Given the description of an element on the screen output the (x, y) to click on. 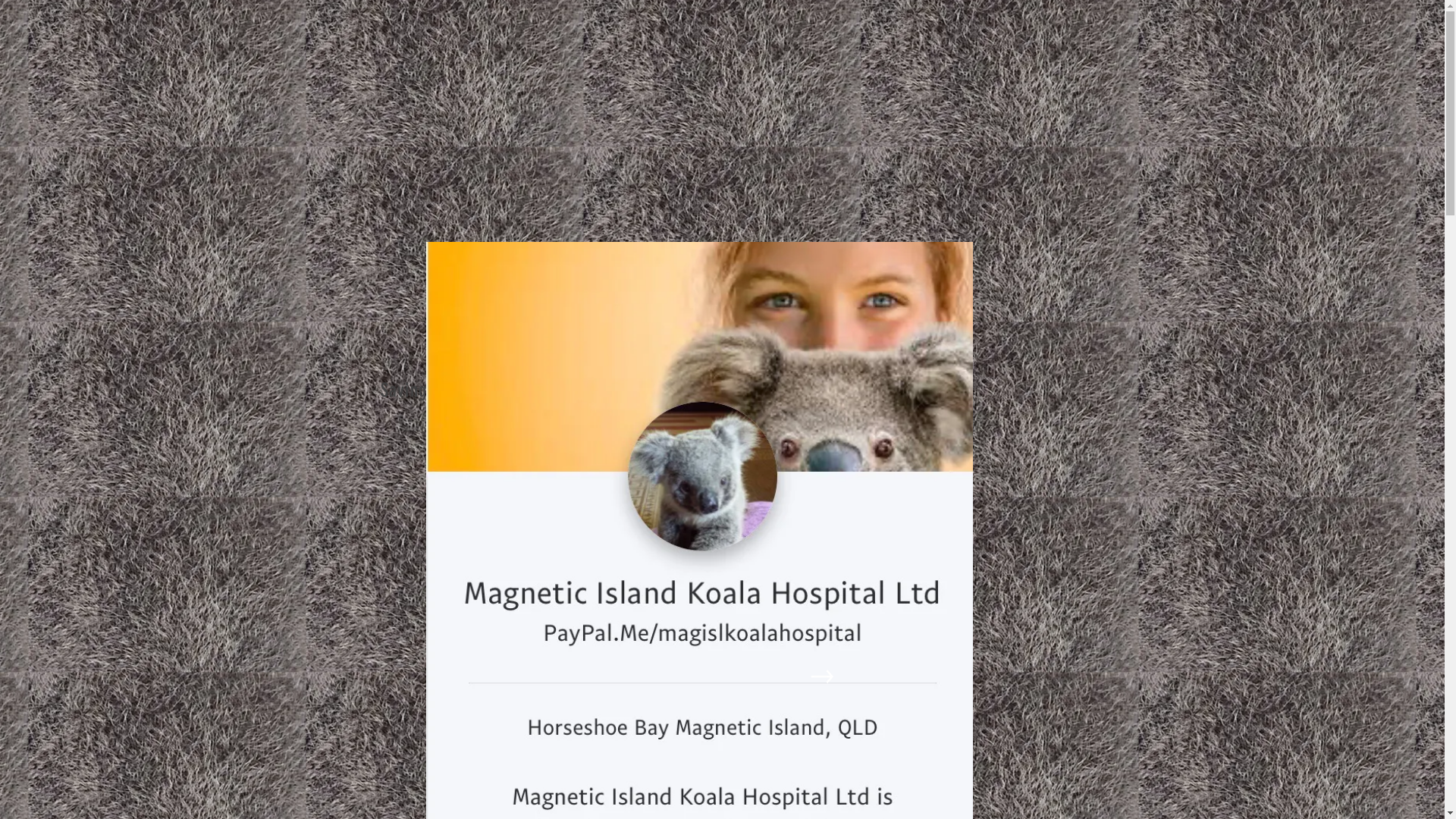
Embedded Content Element type: hover (208, 59)
